Given the description of an element on the screen output the (x, y) to click on. 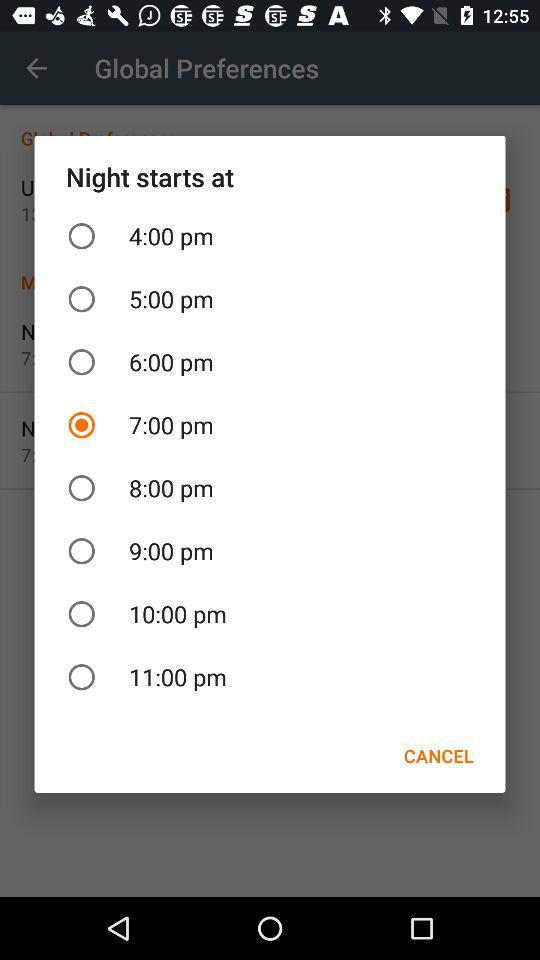
turn on cancel at the bottom right corner (438, 755)
